Given the description of an element on the screen output the (x, y) to click on. 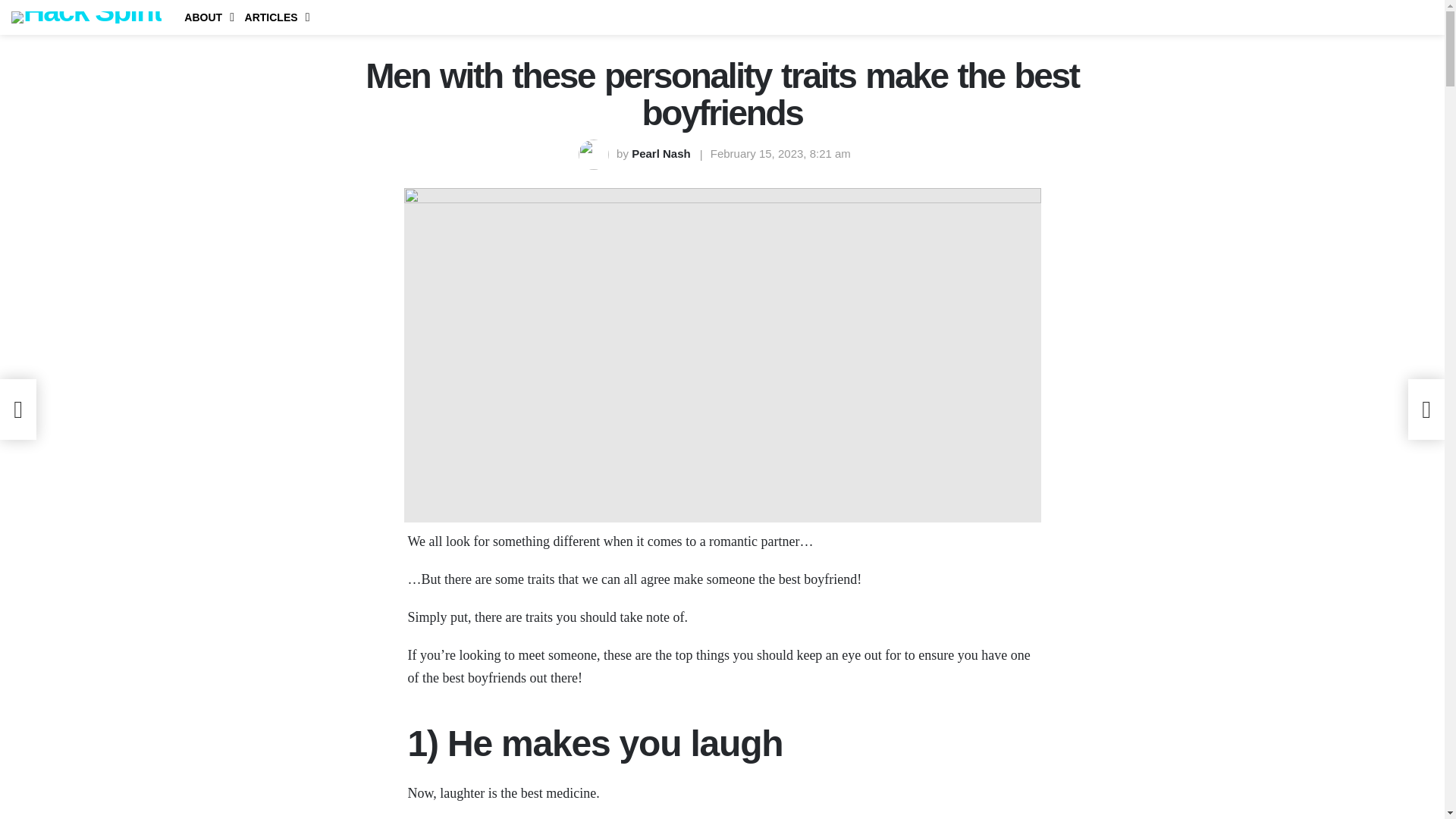
ARTICLES (273, 16)
ABOUT (205, 16)
Posts by Pearl Nash (662, 153)
